Given the description of an element on the screen output the (x, y) to click on. 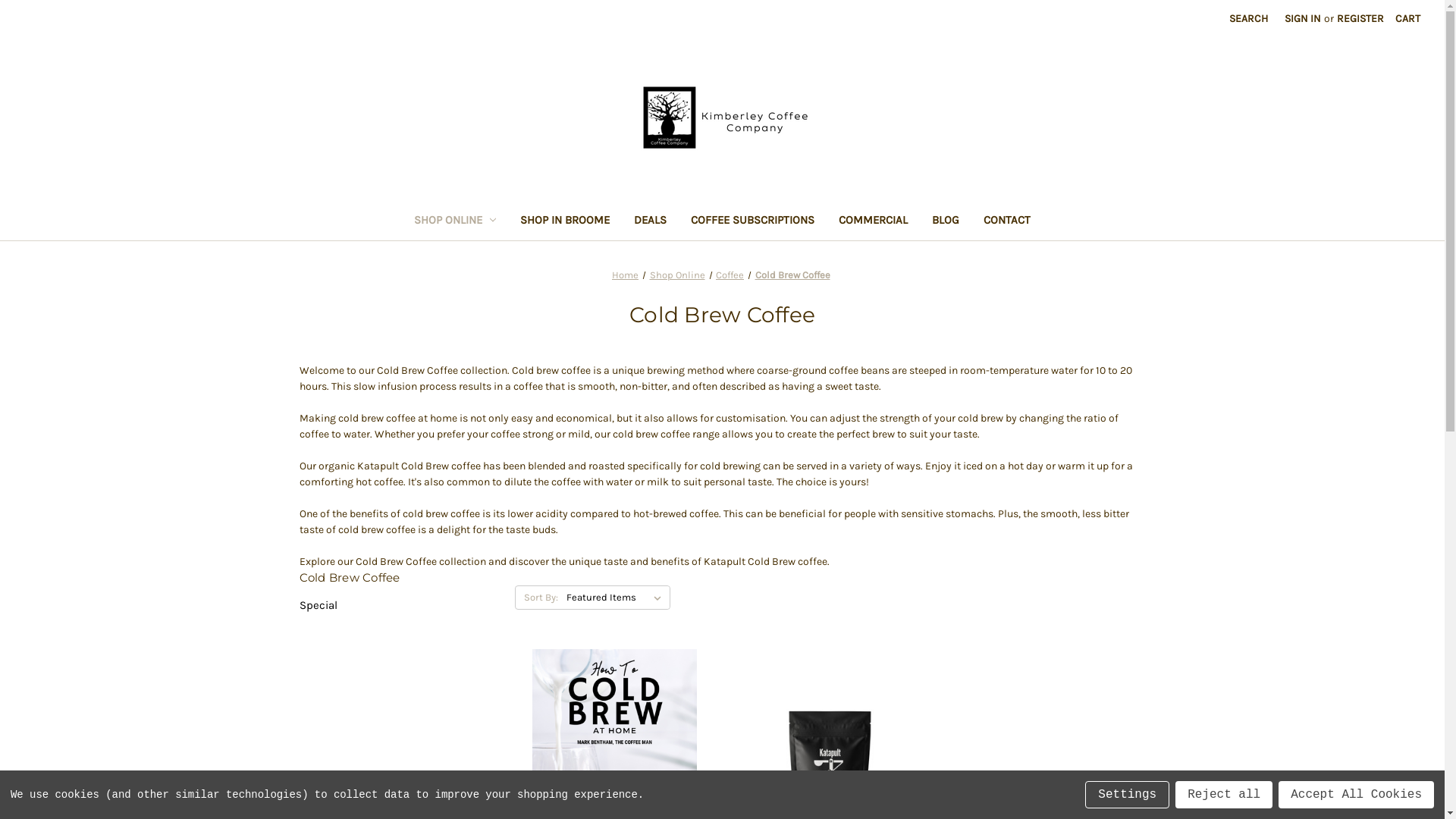
SIGN IN Element type: text (1302, 18)
Accept All Cookies Element type: text (1356, 794)
CONTACT Element type: text (1006, 221)
Settings Element type: text (1127, 794)
SHOP ONLINE Element type: text (454, 221)
COFFEE SUBSCRIPTIONS Element type: text (752, 221)
Reject all Element type: text (1223, 794)
Home Element type: text (624, 274)
Kimberley Coffee Company Element type: hover (722, 117)
SEARCH Element type: text (1248, 18)
BLOG Element type: text (945, 221)
REGISTER Element type: text (1360, 18)
Special Element type: text (398, 605)
CART Element type: text (1407, 18)
SHOP IN BROOME Element type: text (564, 221)
Coffee Element type: text (729, 274)
DEALS Element type: text (649, 221)
COMMERCIAL Element type: text (872, 221)
Shop Online Element type: text (676, 274)
Cold Brew Coffee Element type: text (792, 274)
